Given the description of an element on the screen output the (x, y) to click on. 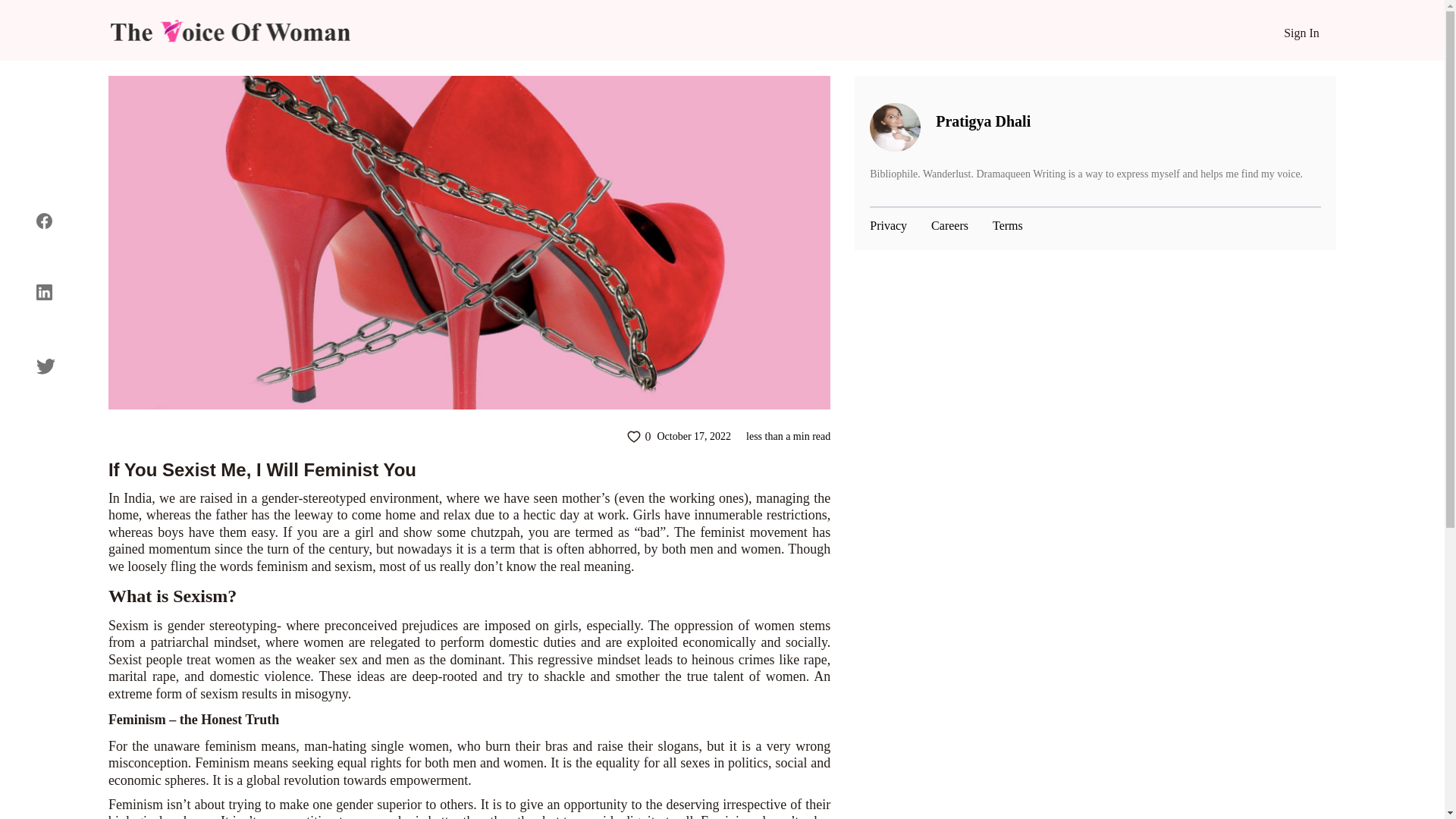
Terms (1007, 226)
Privacy (888, 226)
0 (638, 436)
Careers (949, 226)
